Given the description of an element on the screen output the (x, y) to click on. 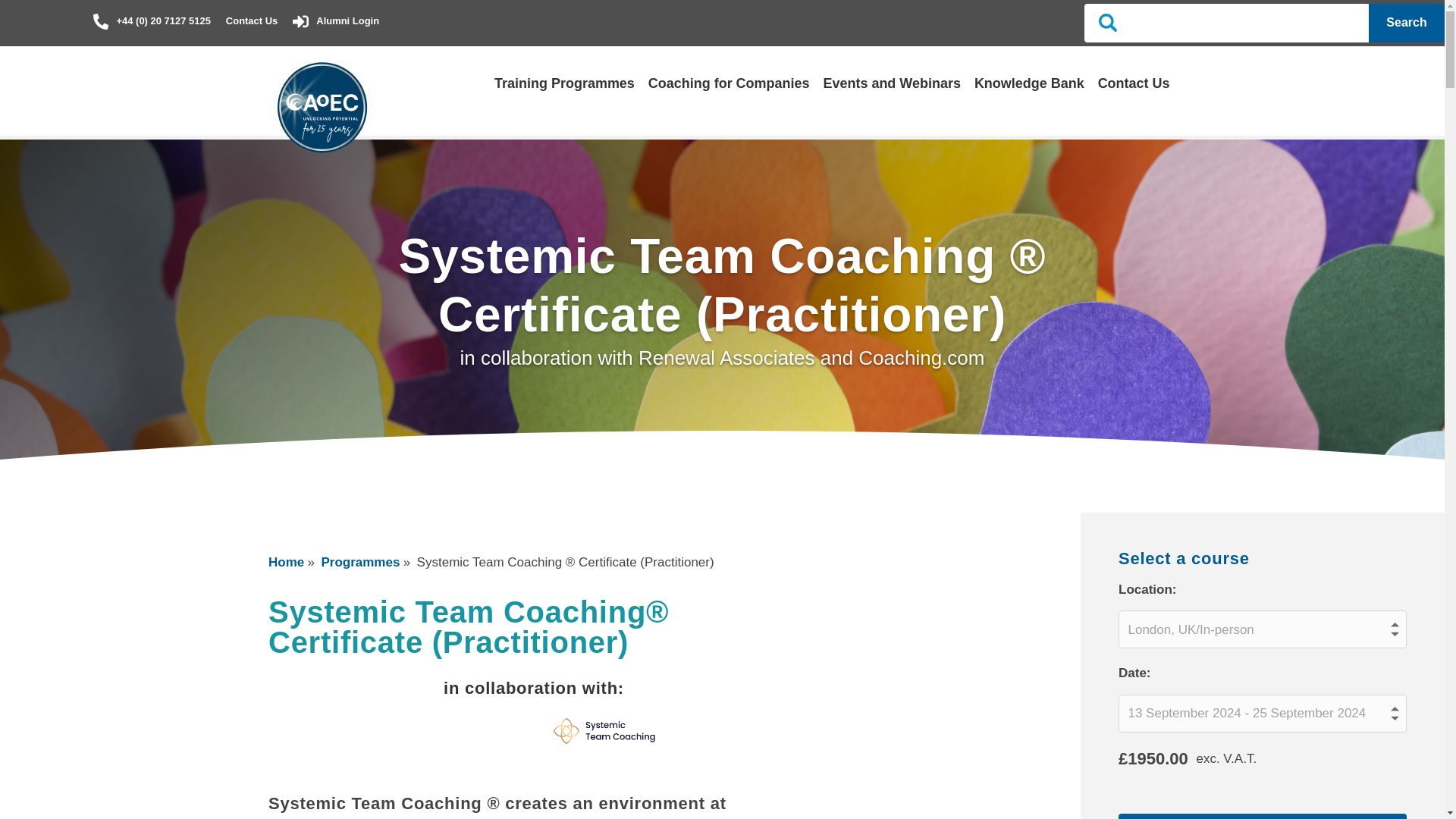
Search (1228, 23)
Knowledge Bank (1029, 83)
Training Programmes (564, 83)
Programmes (359, 562)
Events and Webinars (890, 83)
Apply Here (1262, 816)
Home (285, 562)
Training Programmes (564, 83)
Coaching for Companies (728, 83)
Alumni Login (335, 20)
